Given the description of an element on the screen output the (x, y) to click on. 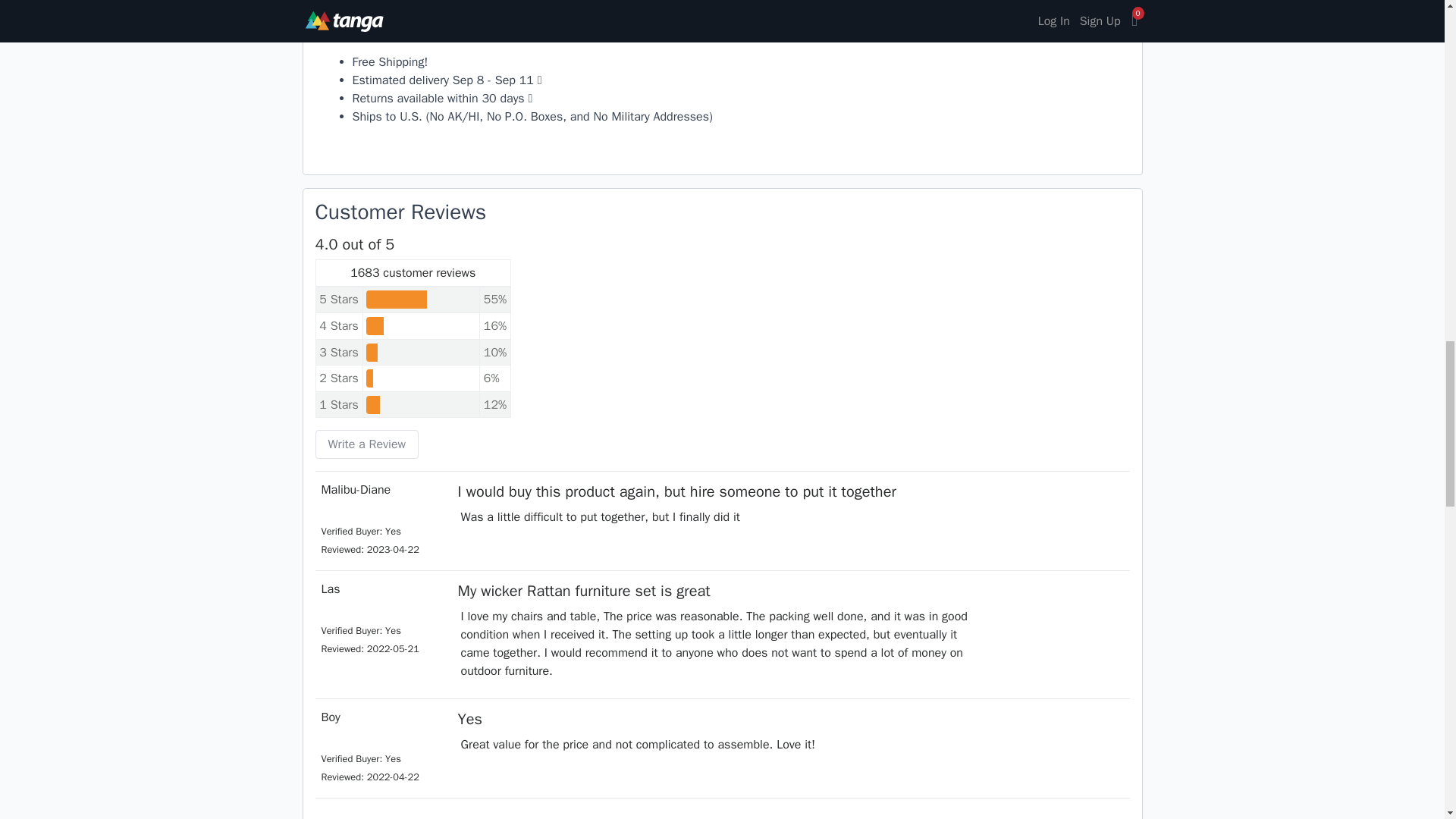
168 reviews (338, 351)
103 reviews (338, 378)
928 reviews (338, 299)
209 reviews (338, 404)
275 reviews (338, 325)
